Given the description of an element on the screen output the (x, y) to click on. 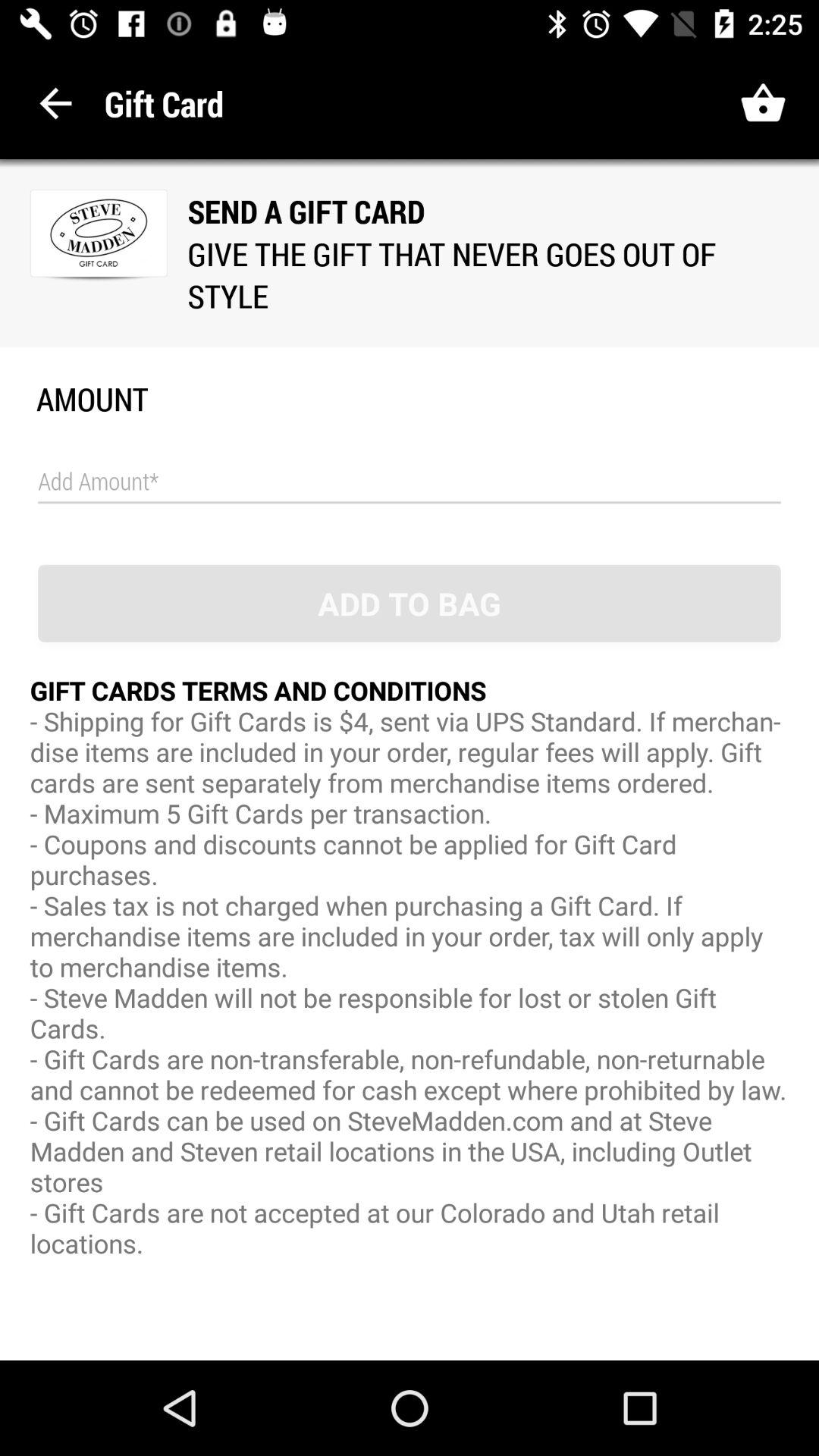
go back (55, 103)
